Given the description of an element on the screen output the (x, y) to click on. 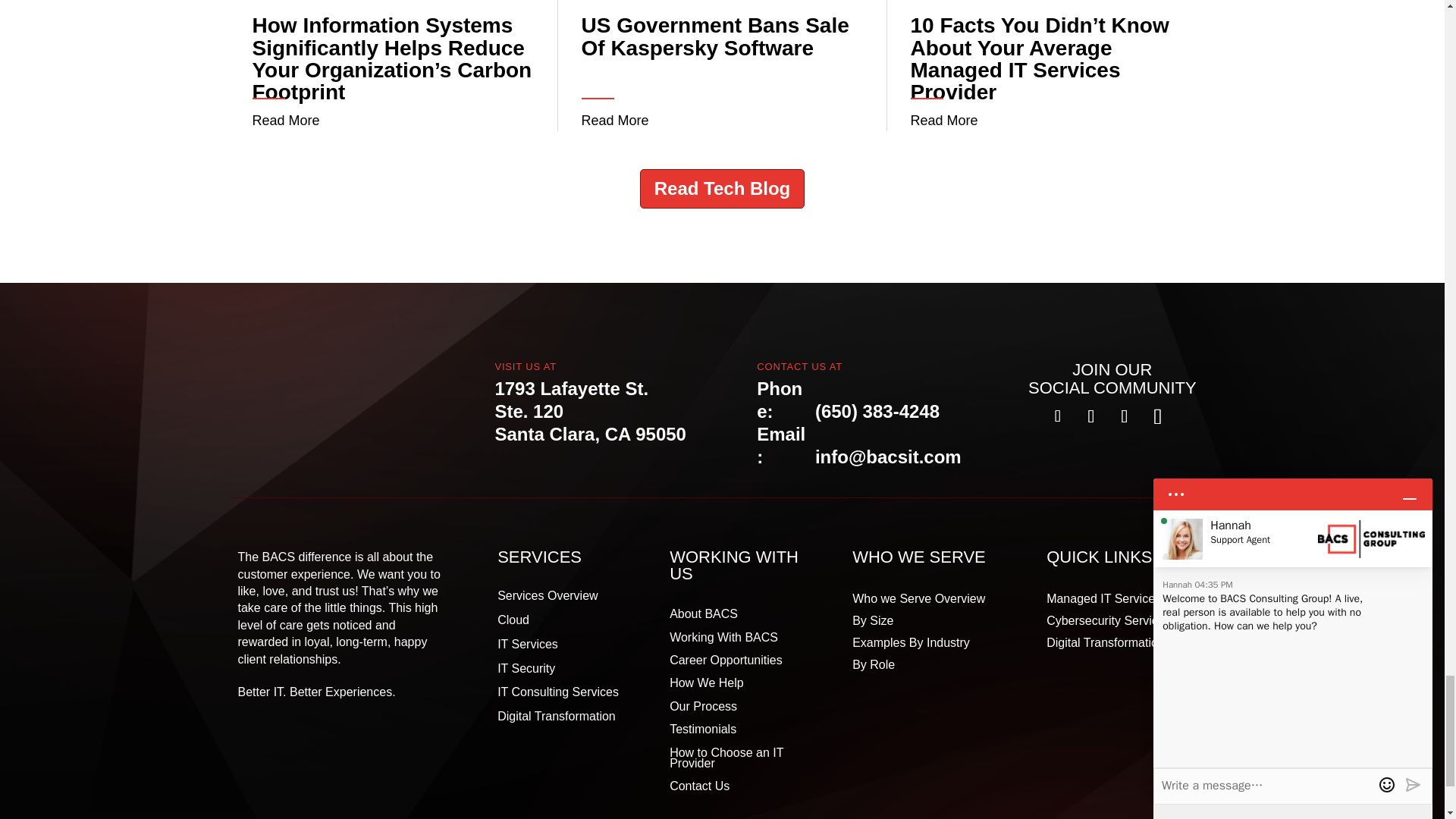
Follow on Facebook (1057, 416)
Follow on LinkedIn (1124, 416)
Follow on Youtube (1157, 416)
Follow on X (1090, 416)
BACS Consulting Group in California (315, 393)
